Given the description of an element on the screen output the (x, y) to click on. 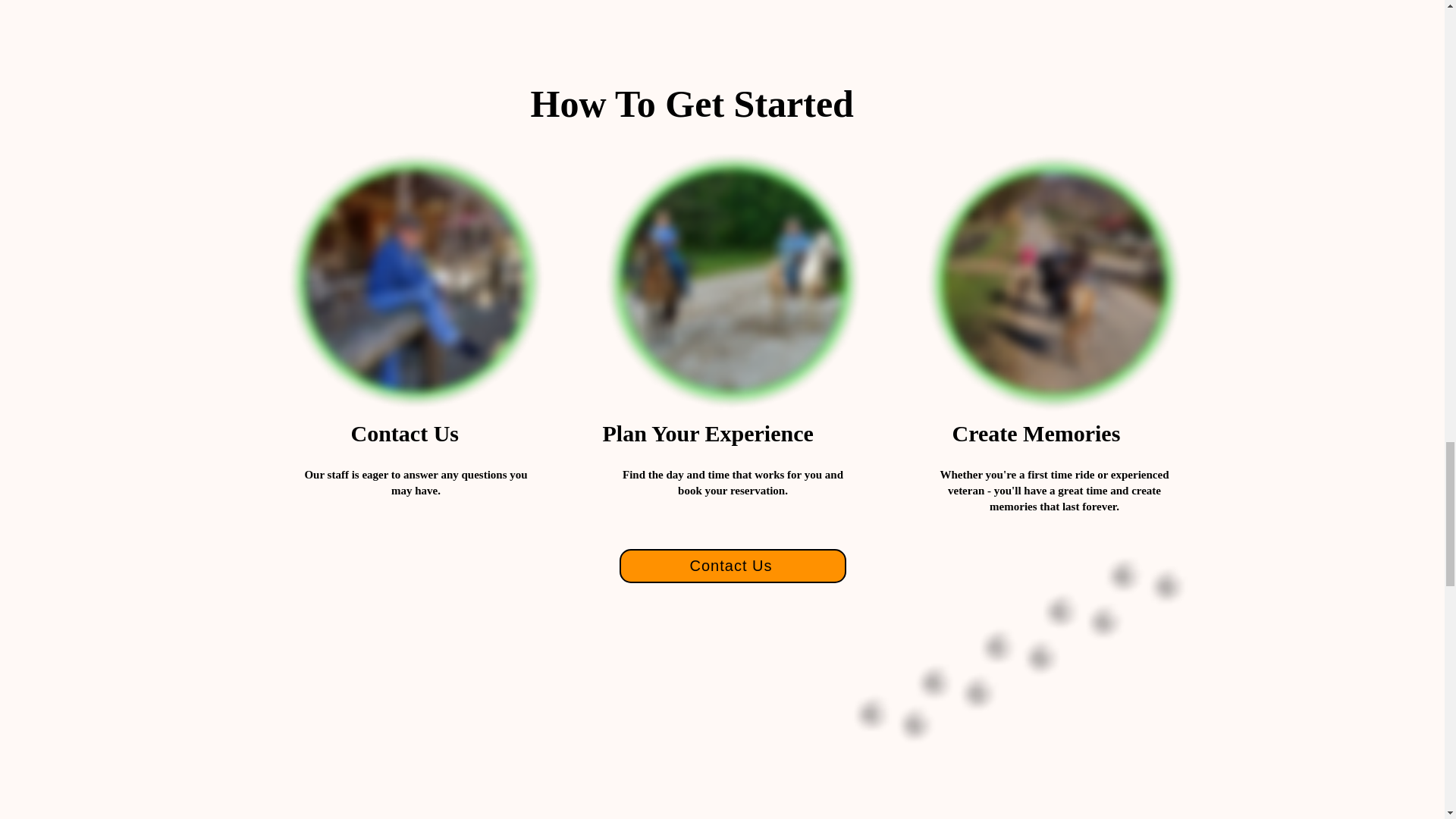
Contact Us (731, 565)
